Given the description of an element on the screen output the (x, y) to click on. 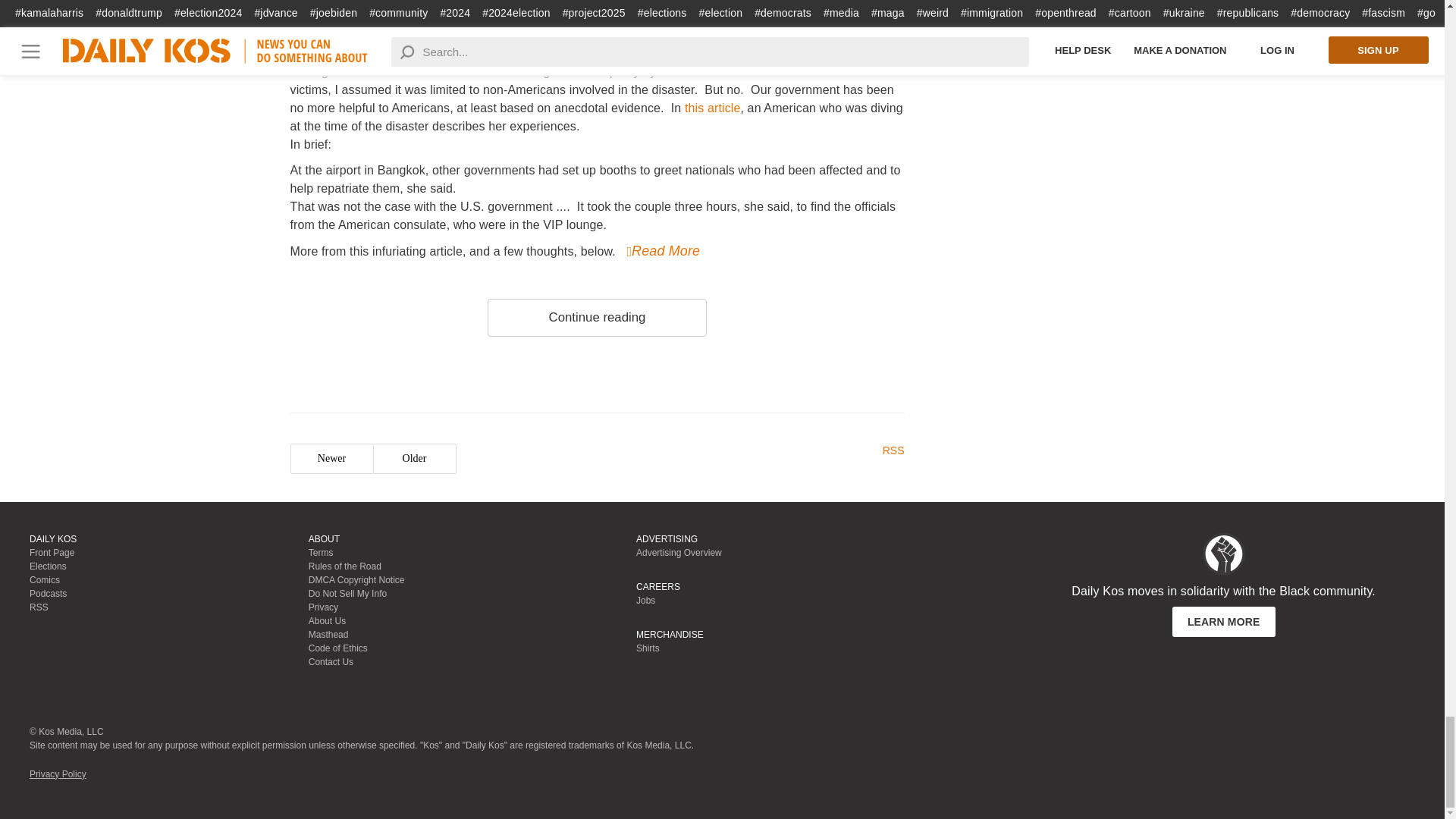
1 Comment 1 New (861, 18)
